Given the description of an element on the screen output the (x, y) to click on. 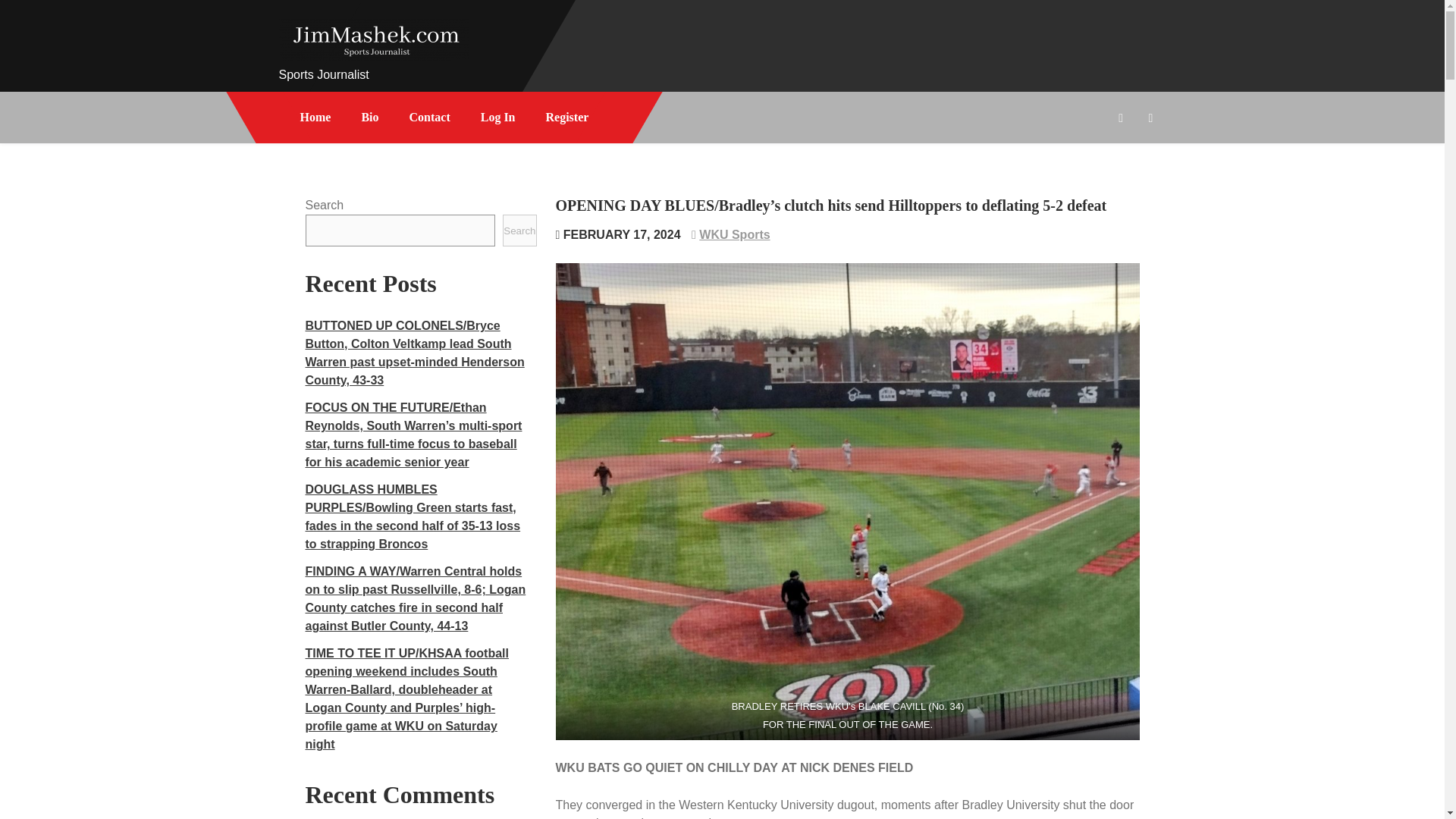
Log In (498, 117)
Search (518, 230)
Contact (430, 117)
WKU Sports (734, 234)
Home (315, 117)
Register (567, 117)
Jim Mashek (342, 80)
